Given the description of an element on the screen output the (x, y) to click on. 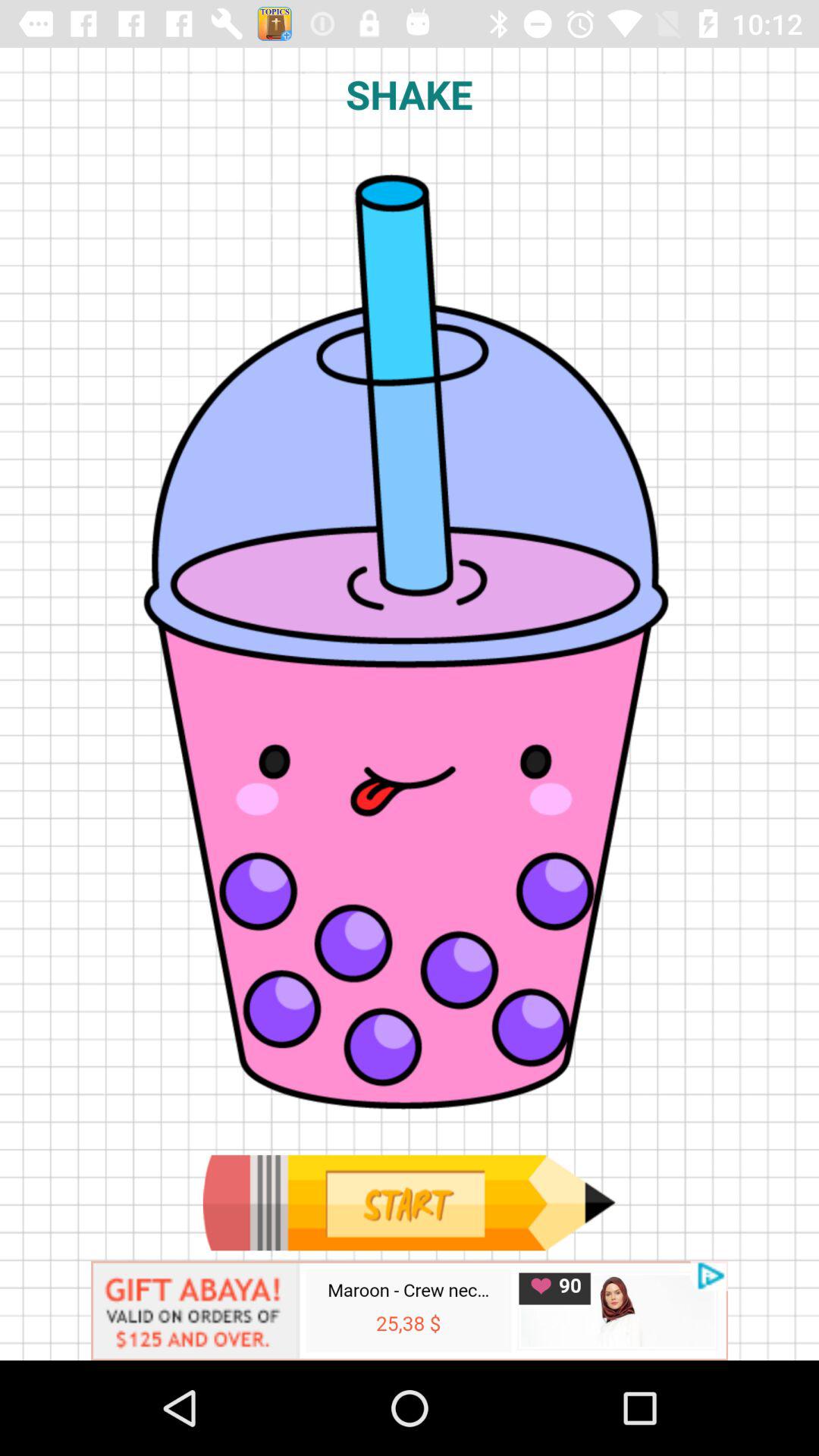
view the advertisement (409, 1310)
